Given the description of an element on the screen output the (x, y) to click on. 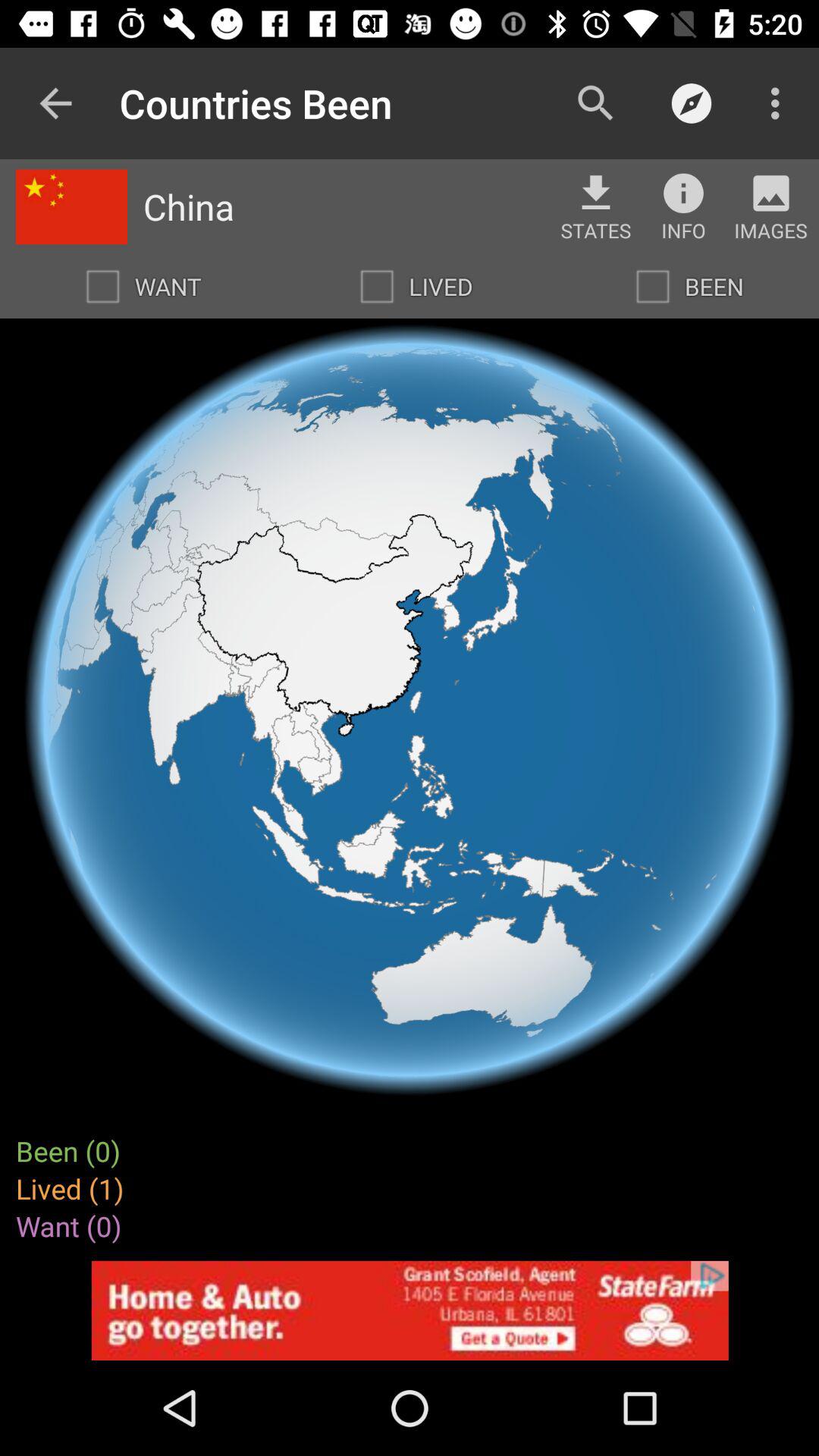
gallery (771, 193)
